Given the description of an element on the screen output the (x, y) to click on. 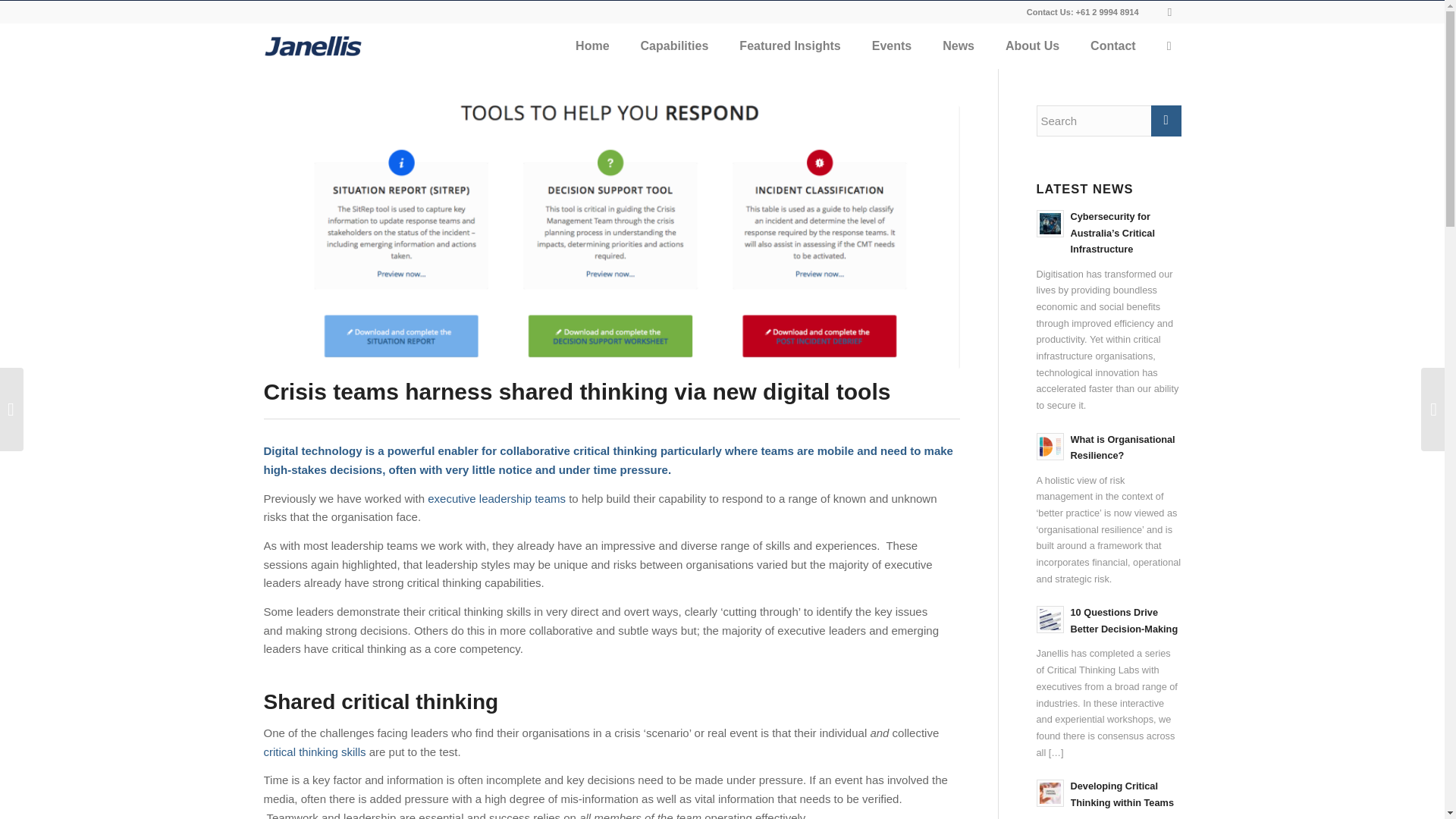
LinkedIn (1169, 11)
Home (592, 45)
Featured Insights (789, 45)
Capabilities (674, 45)
